Given the description of an element on the screen output the (x, y) to click on. 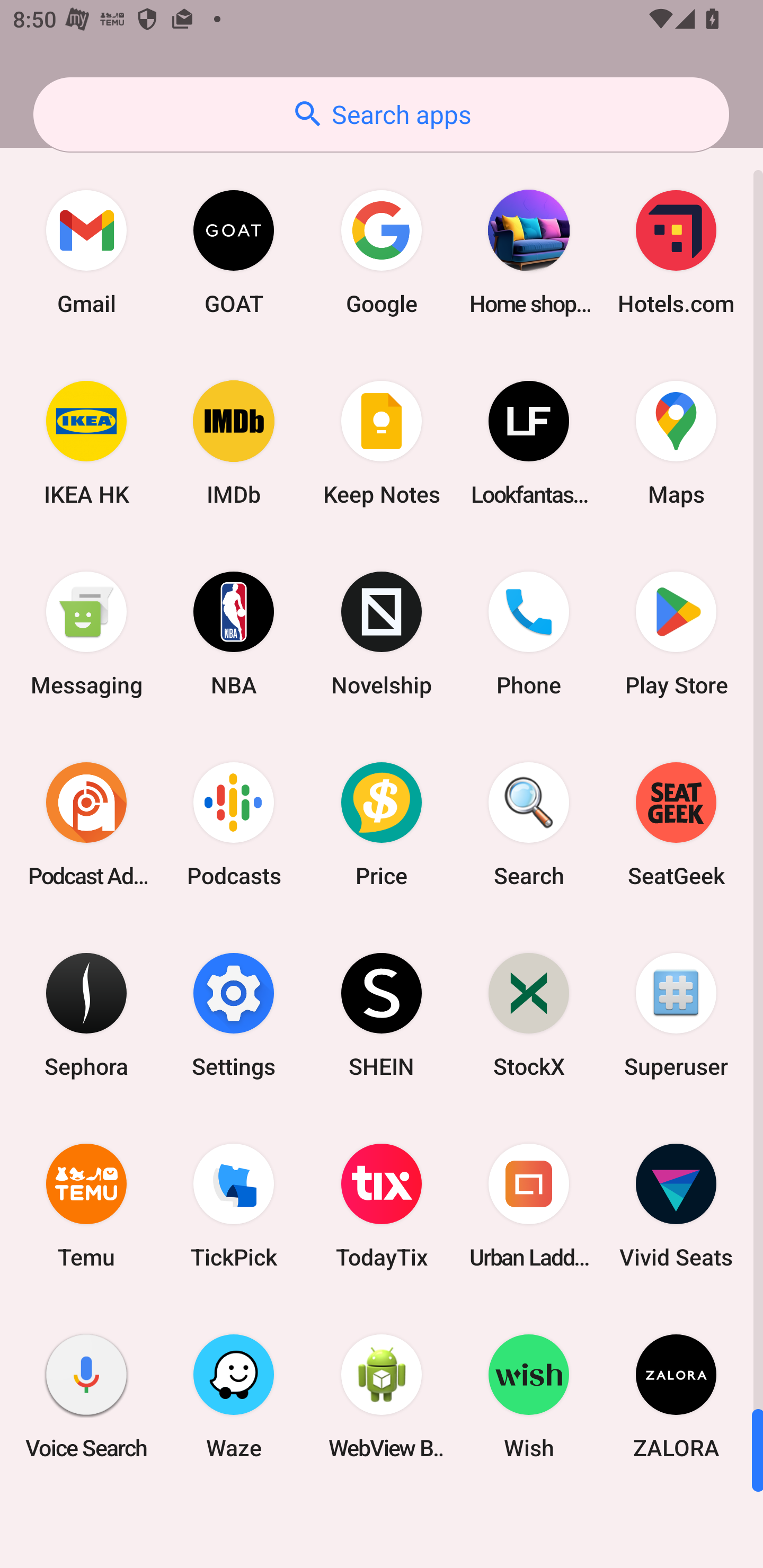
  Search apps (381, 114)
Gmail (86, 252)
GOAT (233, 252)
Google (381, 252)
Home shopping (528, 252)
Hotels.com (676, 252)
IKEA HK (86, 442)
IMDb (233, 442)
Keep Notes (381, 442)
Lookfantastic (528, 442)
Maps (676, 442)
Messaging (86, 633)
NBA (233, 633)
Novelship (381, 633)
Phone (528, 633)
Play Store (676, 633)
Podcast Addict (86, 823)
Podcasts (233, 823)
Price (381, 823)
Search (528, 823)
SeatGeek (676, 823)
Sephora (86, 1014)
Settings (233, 1014)
SHEIN (381, 1014)
StockX (528, 1014)
Superuser (676, 1014)
Temu (86, 1205)
TickPick (233, 1205)
TodayTix (381, 1205)
Urban Ladder (528, 1205)
Vivid Seats (676, 1205)
Voice Search (86, 1396)
Waze (233, 1396)
WebView Browser Tester (381, 1396)
Wish (528, 1396)
ZALORA (676, 1396)
